Given the description of an element on the screen output the (x, y) to click on. 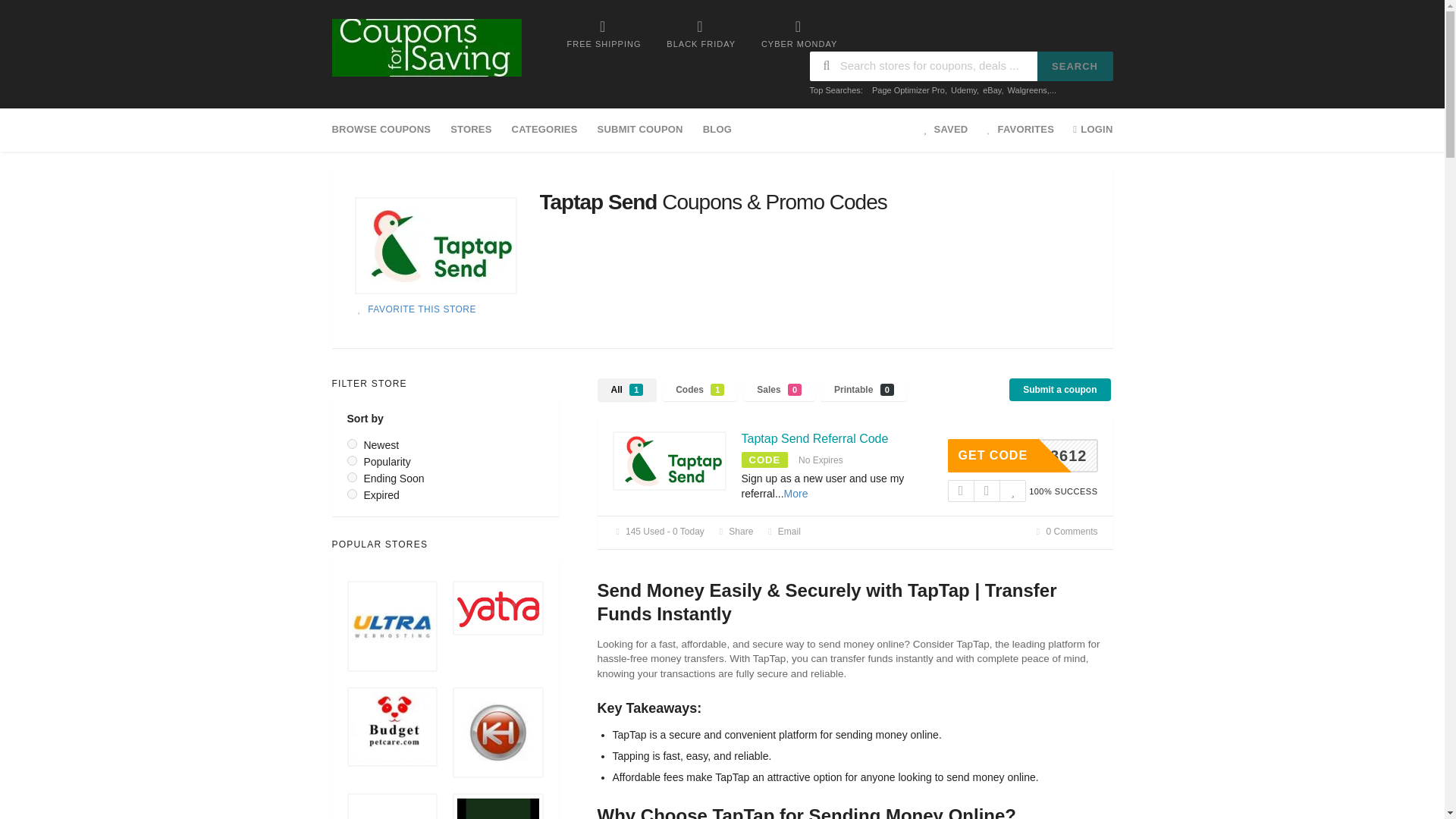
taptap send referral code (669, 460)
FREE SHIPPING (604, 33)
popularity (351, 460)
Printable 0 (864, 389)
Taptap Send Referral Code (814, 438)
ultra web hosting coupon codes discounts etc (392, 626)
Share (735, 531)
SAVED (946, 129)
Email (782, 531)
Udemy (963, 90)
